Given the description of an element on the screen output the (x, y) to click on. 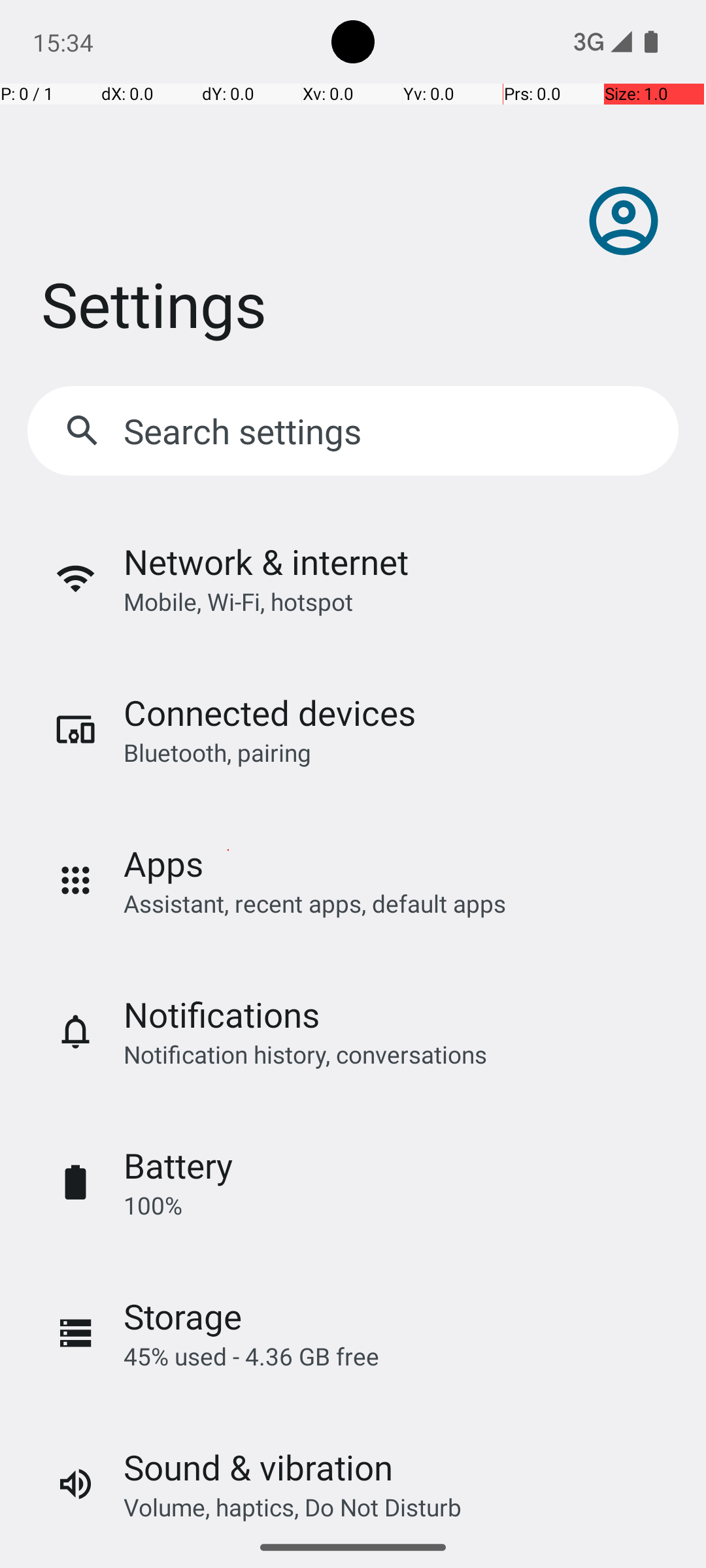
45% used - 4.36 GB free Element type: android.widget.TextView (251, 1355)
